Given the description of an element on the screen output the (x, y) to click on. 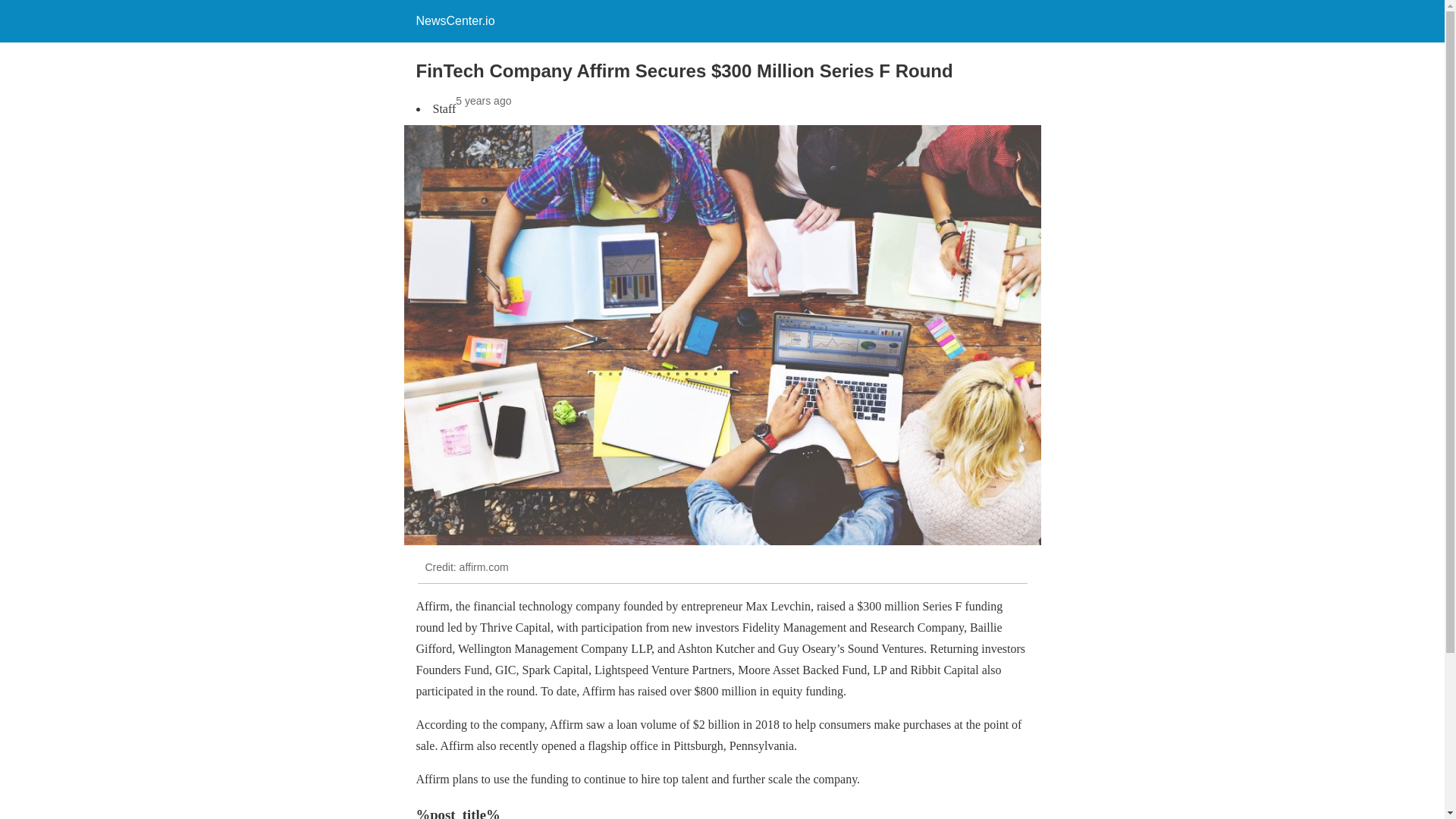
NewsCenter.io (454, 20)
